Given the description of an element on the screen output the (x, y) to click on. 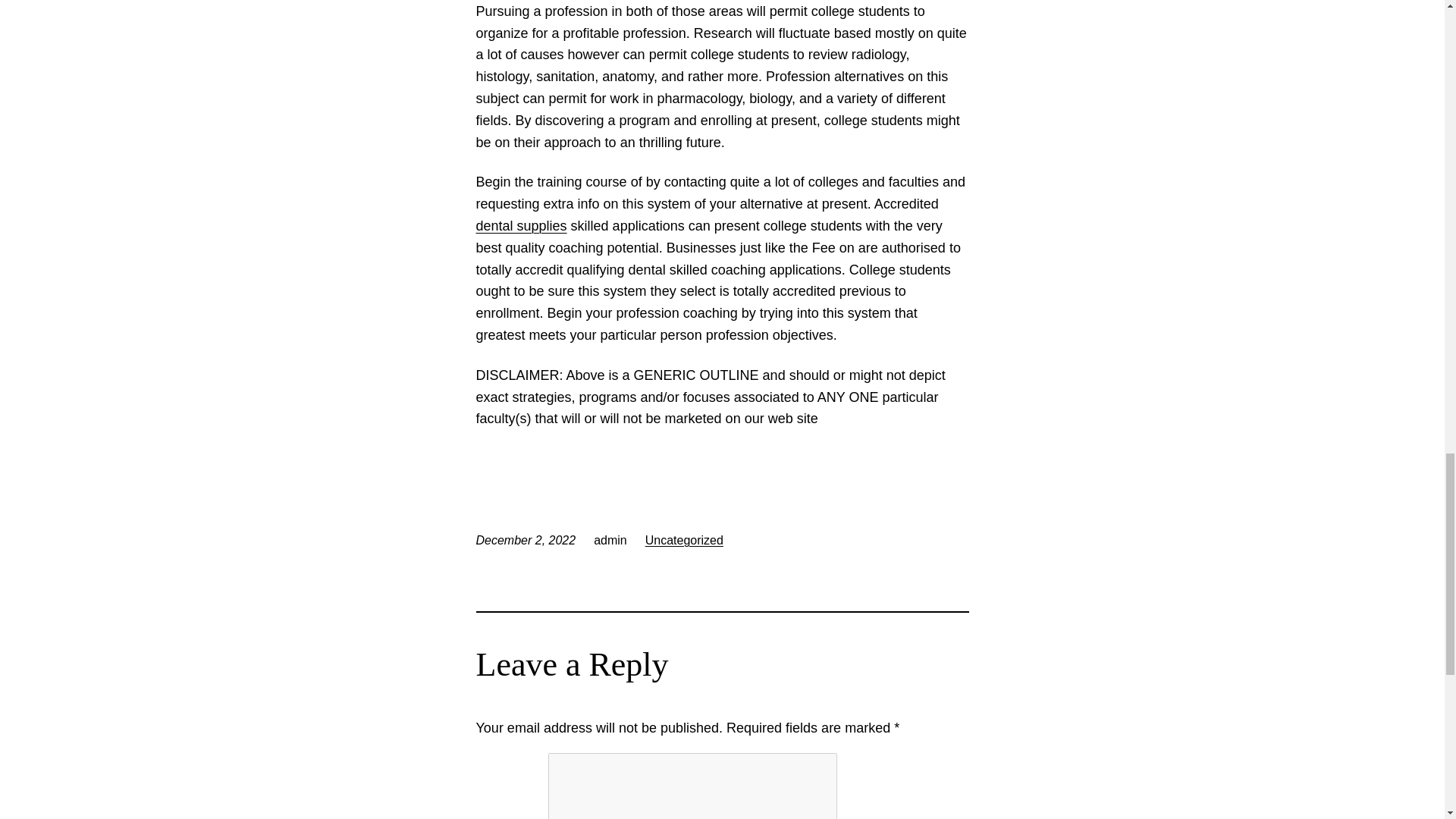
Uncategorized (684, 540)
dental supplies (521, 225)
